Given the description of an element on the screen output the (x, y) to click on. 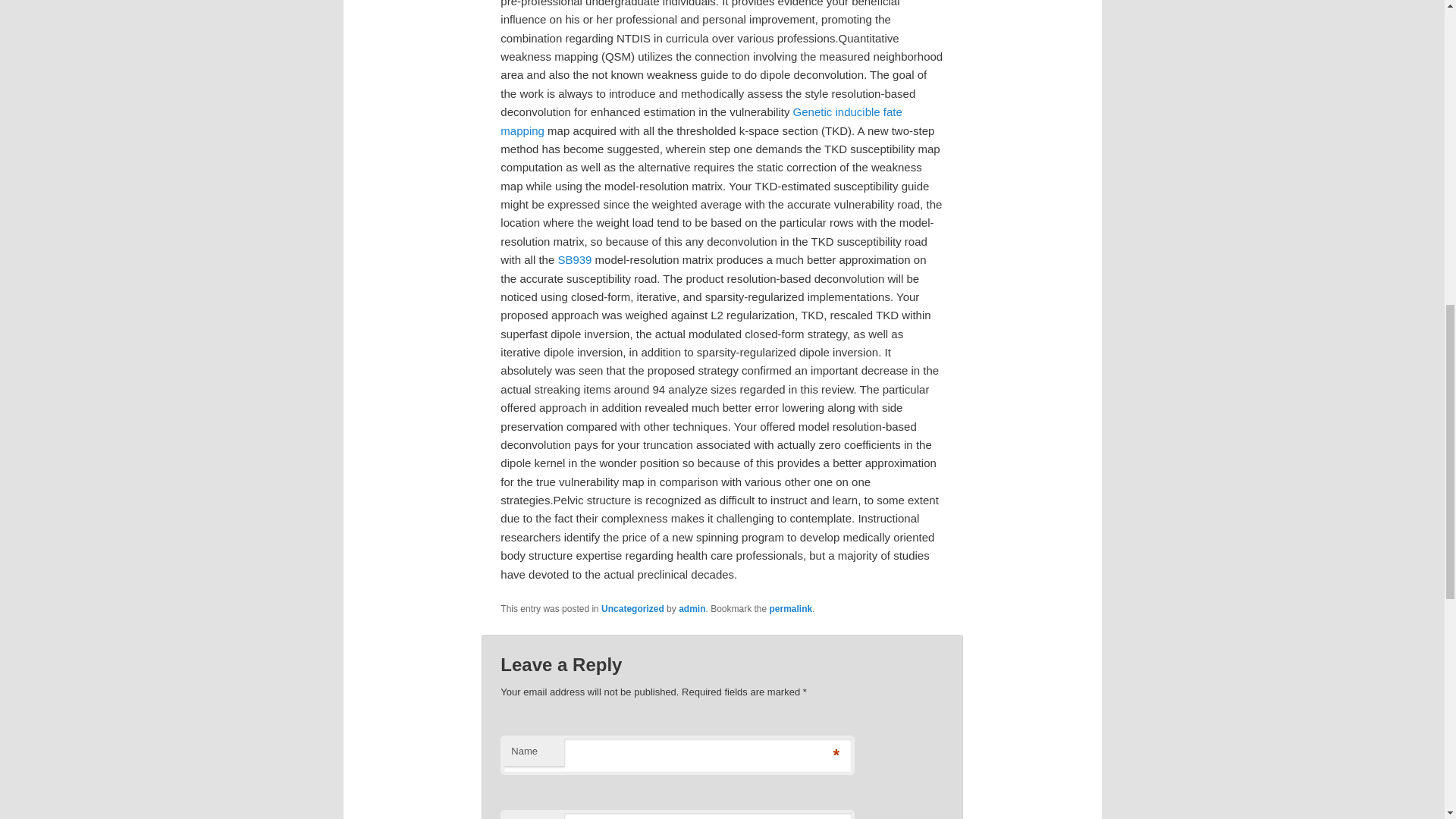
permalink (791, 608)
SB939 (574, 259)
Genetic inducible fate mapping (701, 120)
Uncategorized (632, 608)
View all posts in Uncategorized (632, 608)
admin (691, 608)
